Given the description of an element on the screen output the (x, y) to click on. 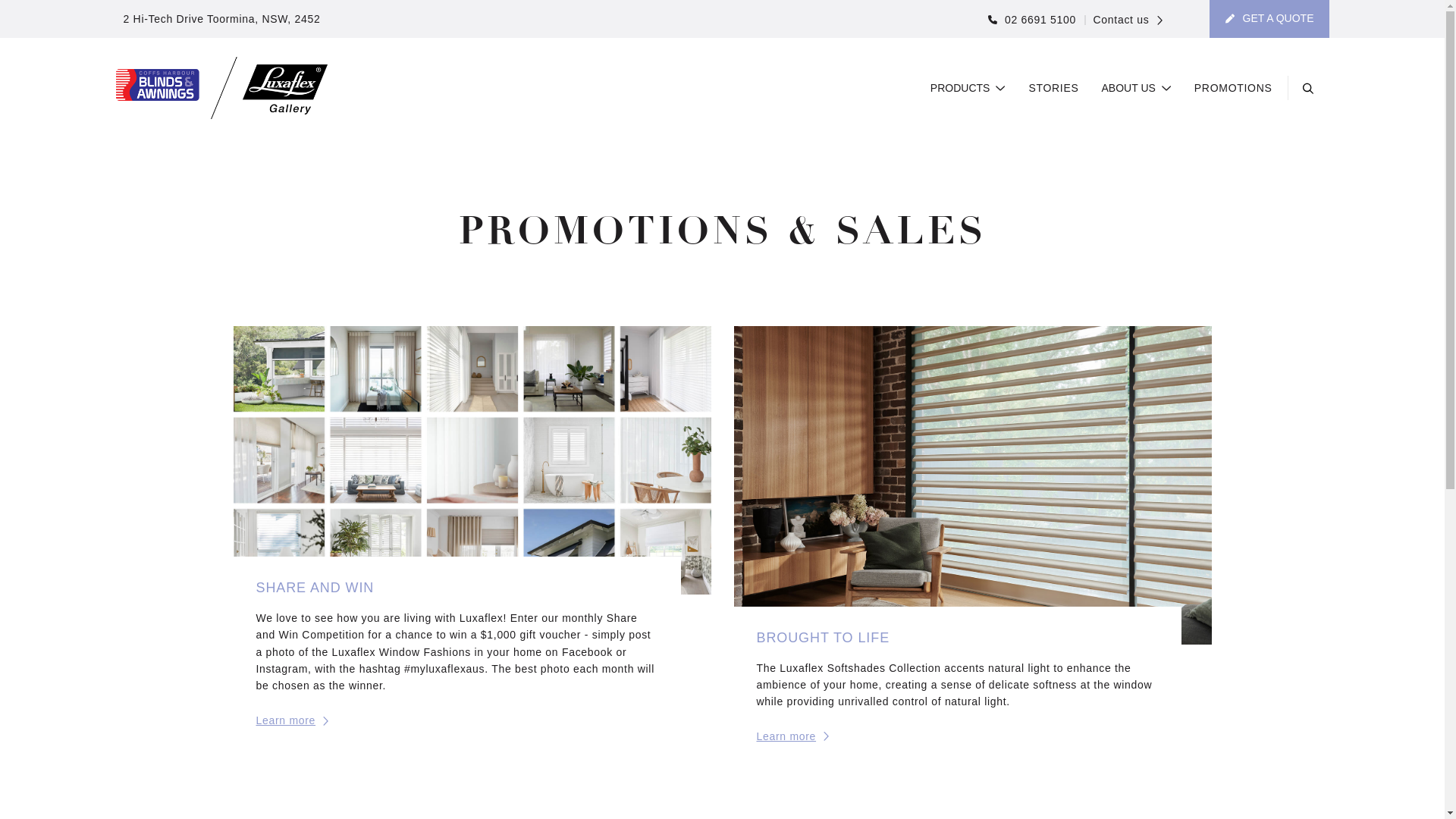
02 6691 5100 Element type: text (1032, 20)
Contact us Element type: text (1123, 20)
Learn more Element type: text (792, 736)
ABOUT US Element type: text (1136, 88)
STORIES Element type: text (1053, 88)
GET A QUOTE Element type: text (1269, 18)
Learn more Element type: text (292, 720)
PRODUCTS Element type: text (968, 88)
PROMOTIONS Element type: text (1233, 88)
